Given the description of an element on the screen output the (x, y) to click on. 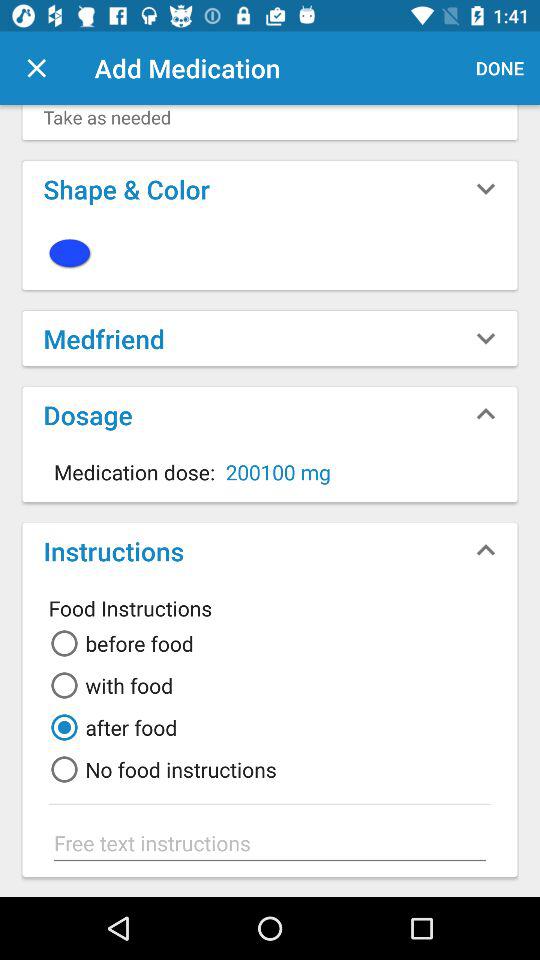
choose with food icon (108, 685)
